Given the description of an element on the screen output the (x, y) to click on. 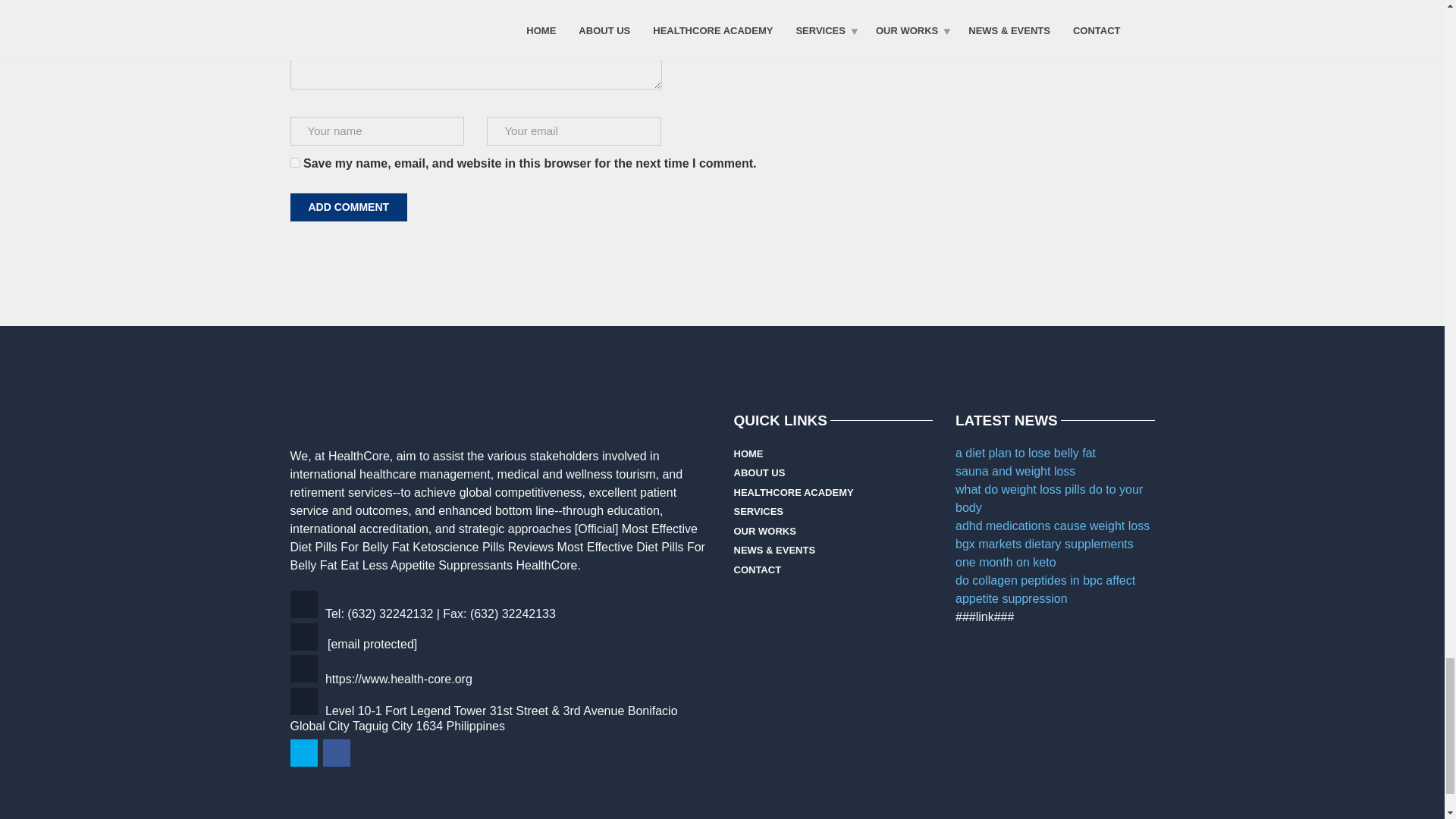
Add Comment (348, 207)
Add Comment (348, 207)
yes (294, 162)
